Given the description of an element on the screen output the (x, y) to click on. 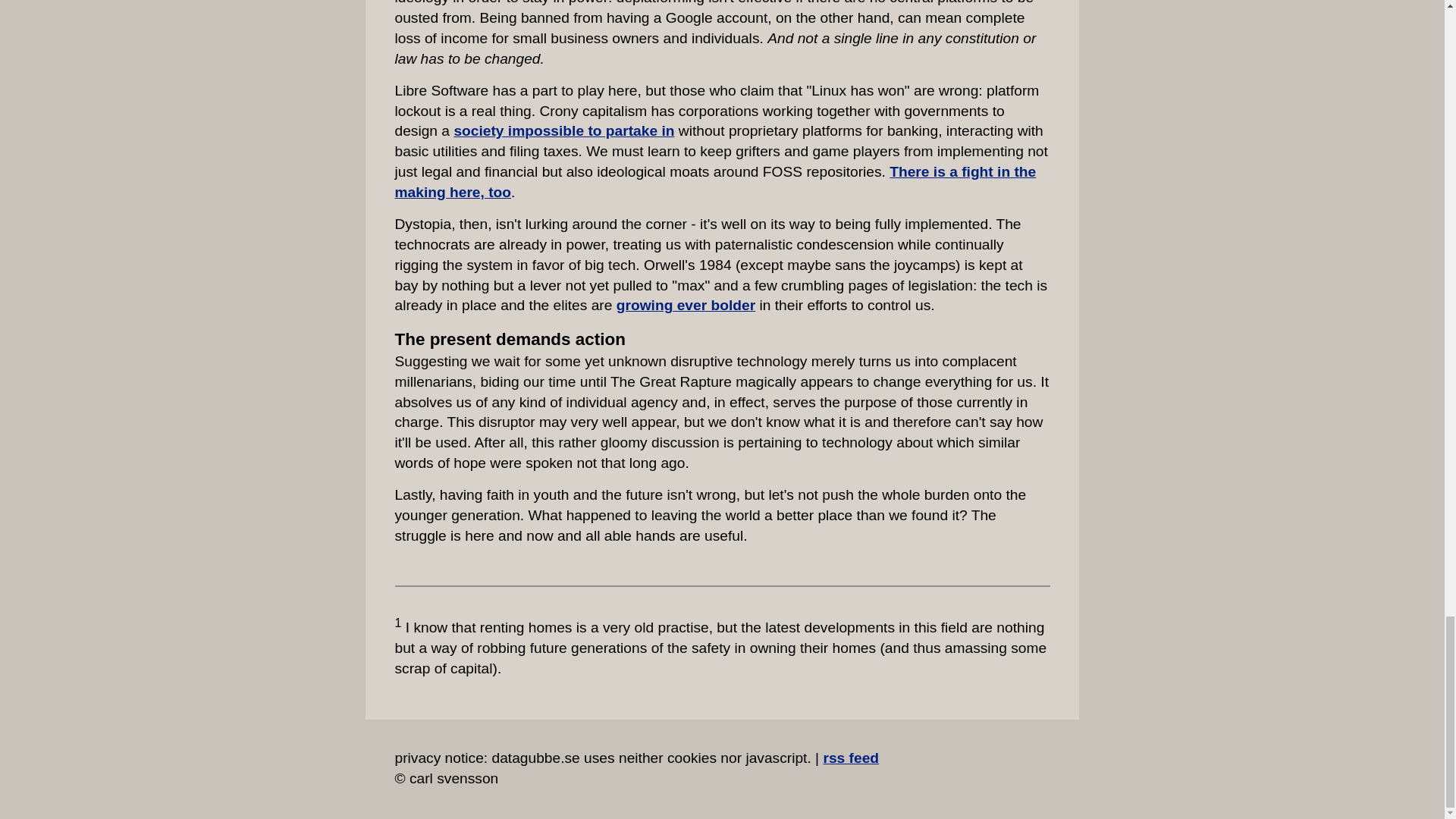
society impossible to partake in (563, 130)
There is a fight in the making here, too (714, 181)
rss feed (850, 757)
growing ever bolder (685, 304)
